Given the description of an element on the screen output the (x, y) to click on. 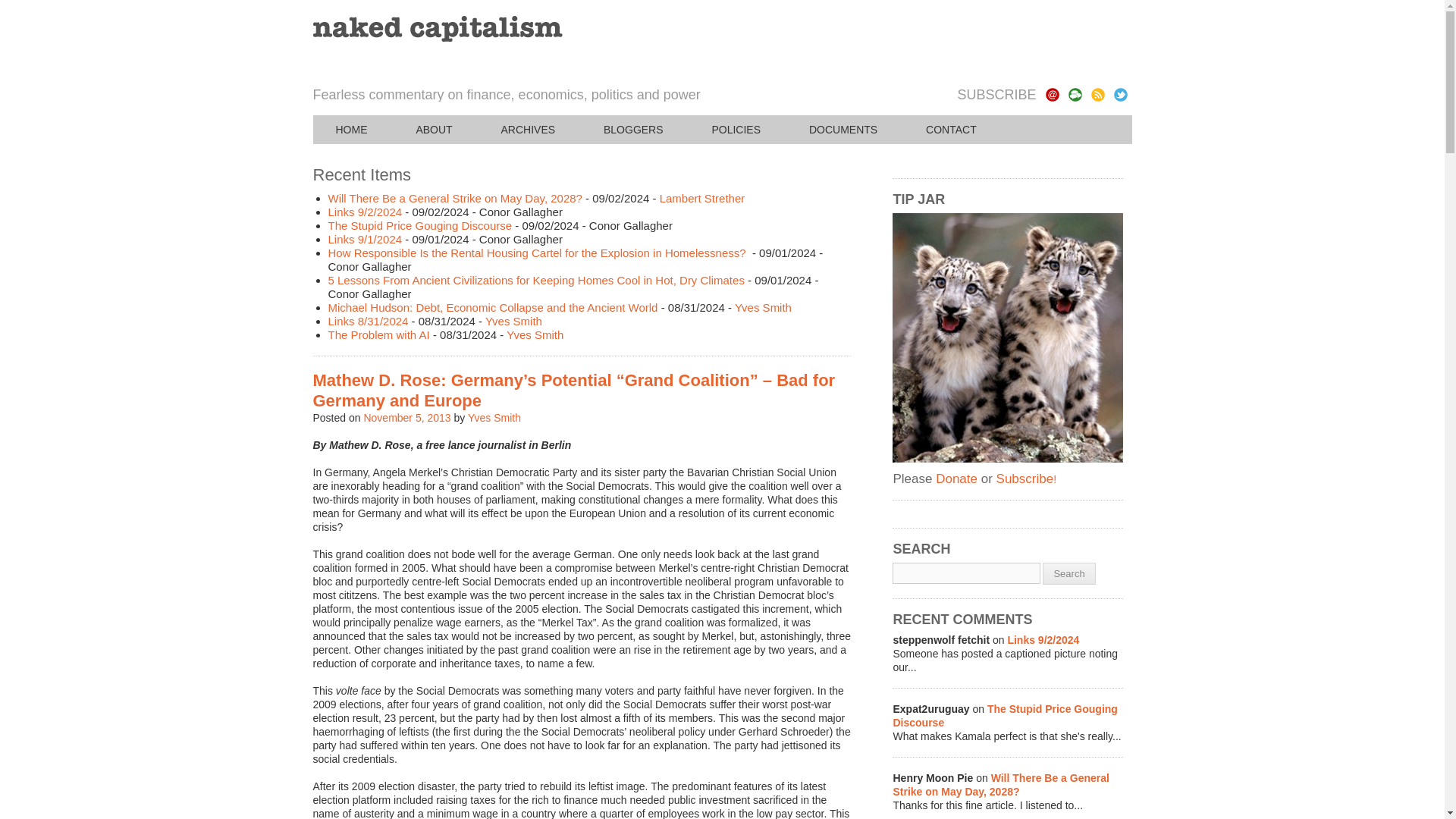
Yves Smith (512, 320)
Subscribe to posts via Email (1051, 94)
DOCUMENTS (842, 129)
Yves Smith (534, 334)
The Stupid Price Gouging Discourse (419, 225)
Follow yvessmith on Twitter (1119, 94)
Search (1068, 573)
November 5, 2013 (405, 417)
POLICIES (735, 129)
Yves Smith (763, 307)
